Given the description of an element on the screen output the (x, y) to click on. 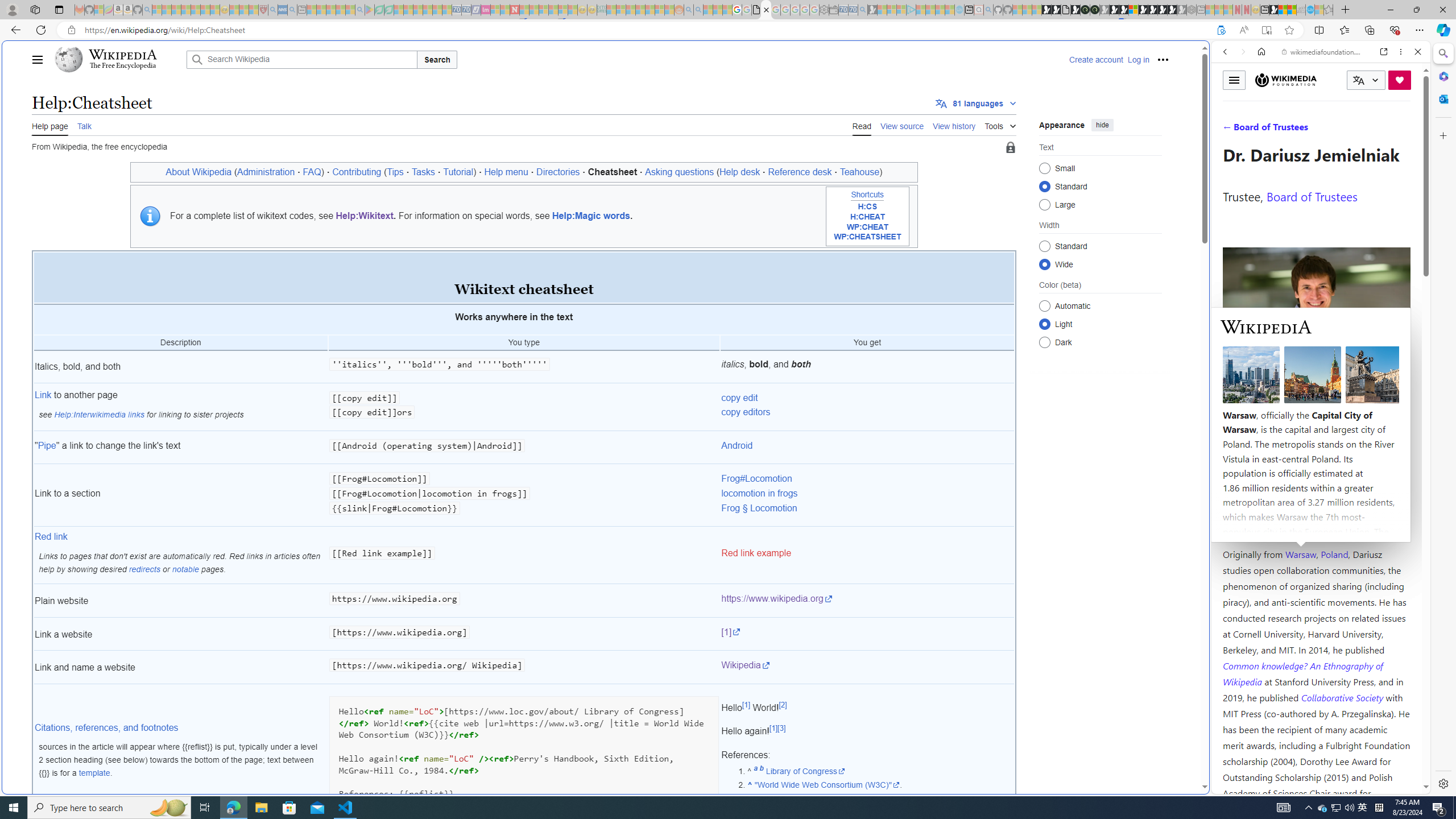
Search Wikipedia (301, 59)
Citations, references, and footnotes (106, 727)
Main menu (37, 59)
H:CHEAT (867, 217)
Italics, bold, and both (180, 366)
